Given the description of an element on the screen output the (x, y) to click on. 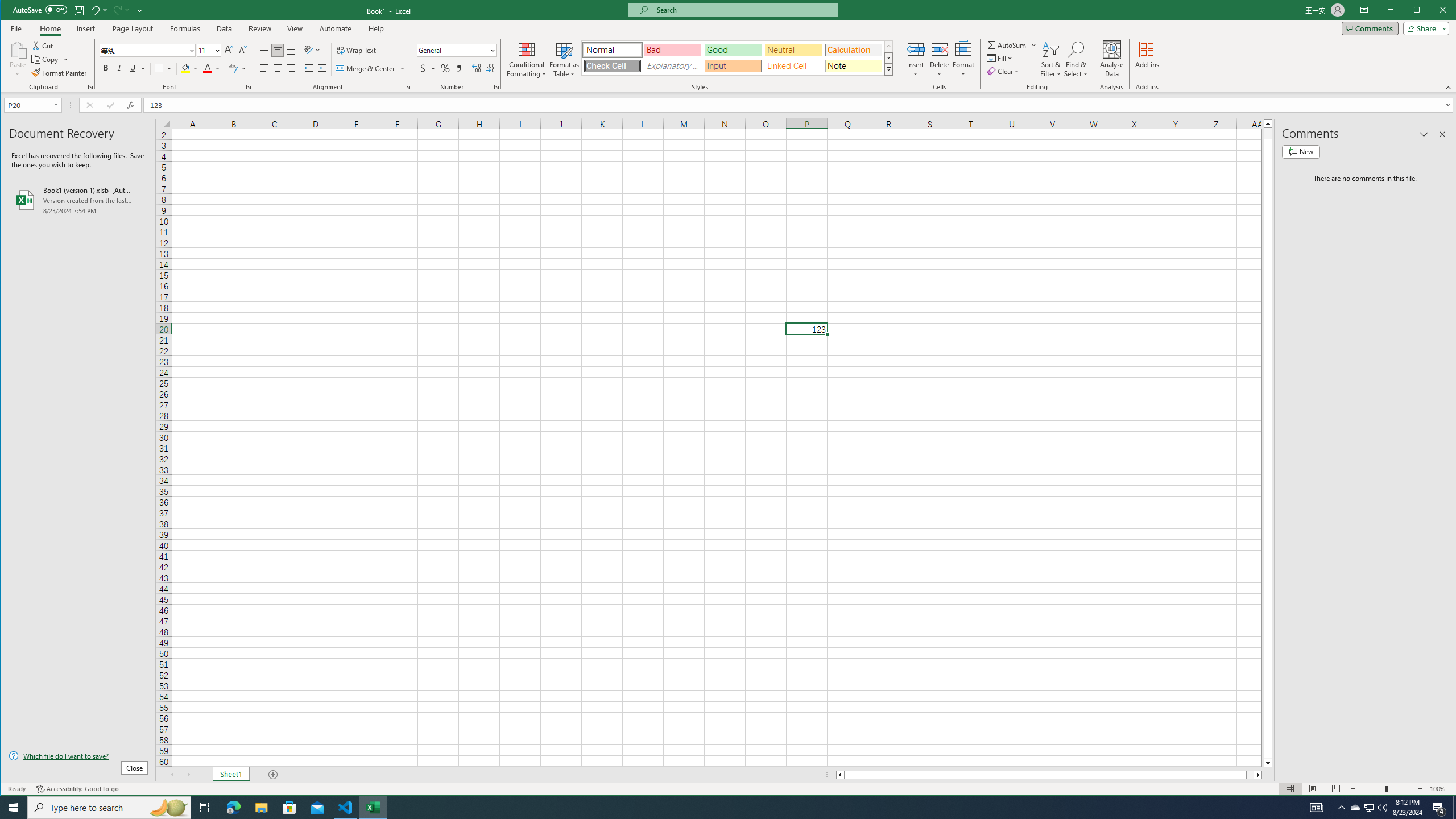
Italic (119, 68)
Center (276, 68)
Good (732, 49)
Number Format (456, 49)
Microsoft Edge (233, 807)
Paste (17, 59)
Show Phonetic Field (237, 68)
Excel - 1 running window (373, 807)
Delete (939, 59)
